Given the description of an element on the screen output the (x, y) to click on. 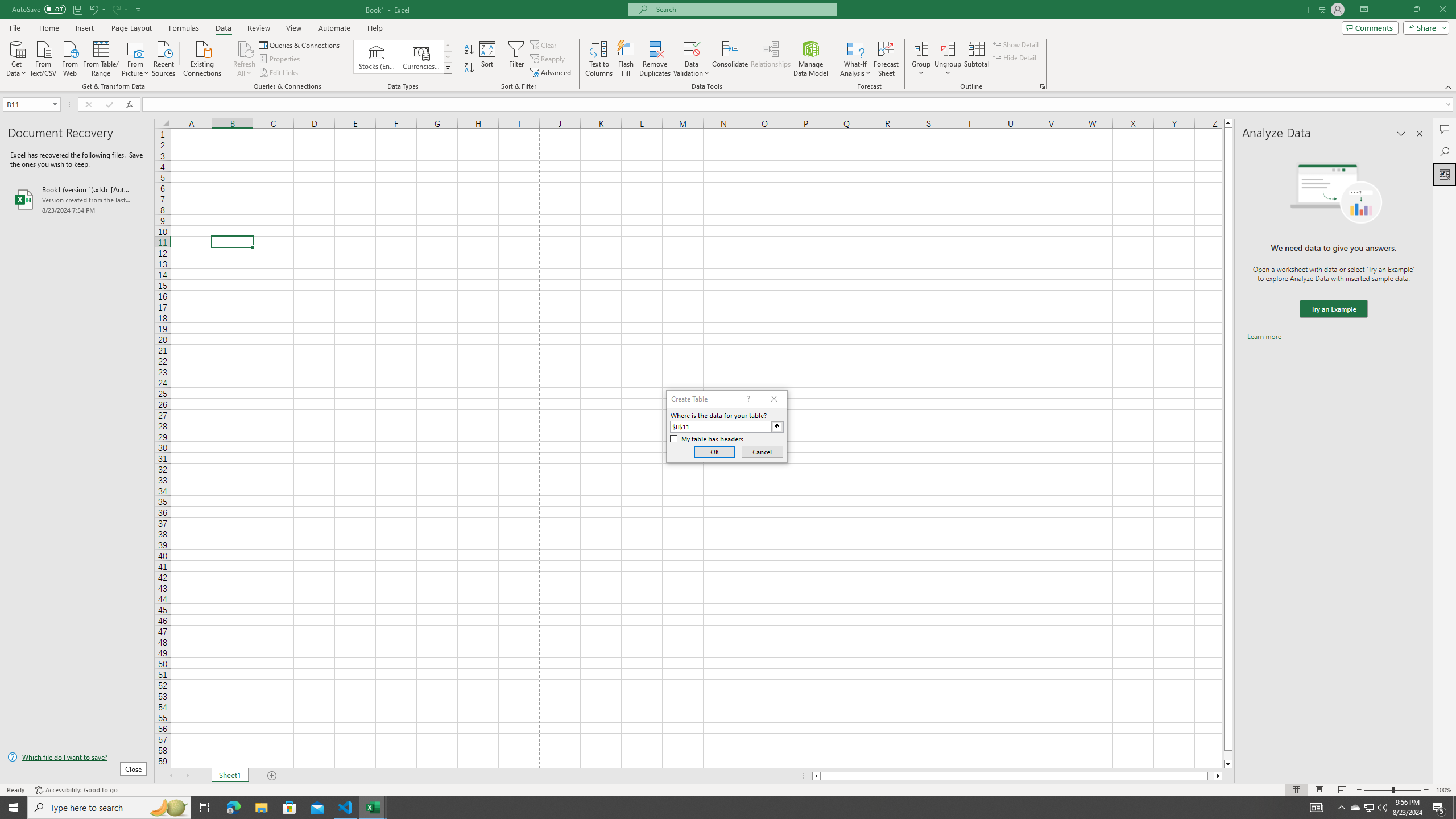
Comments (1444, 128)
Learn more (1264, 336)
